Given the description of an element on the screen output the (x, y) to click on. 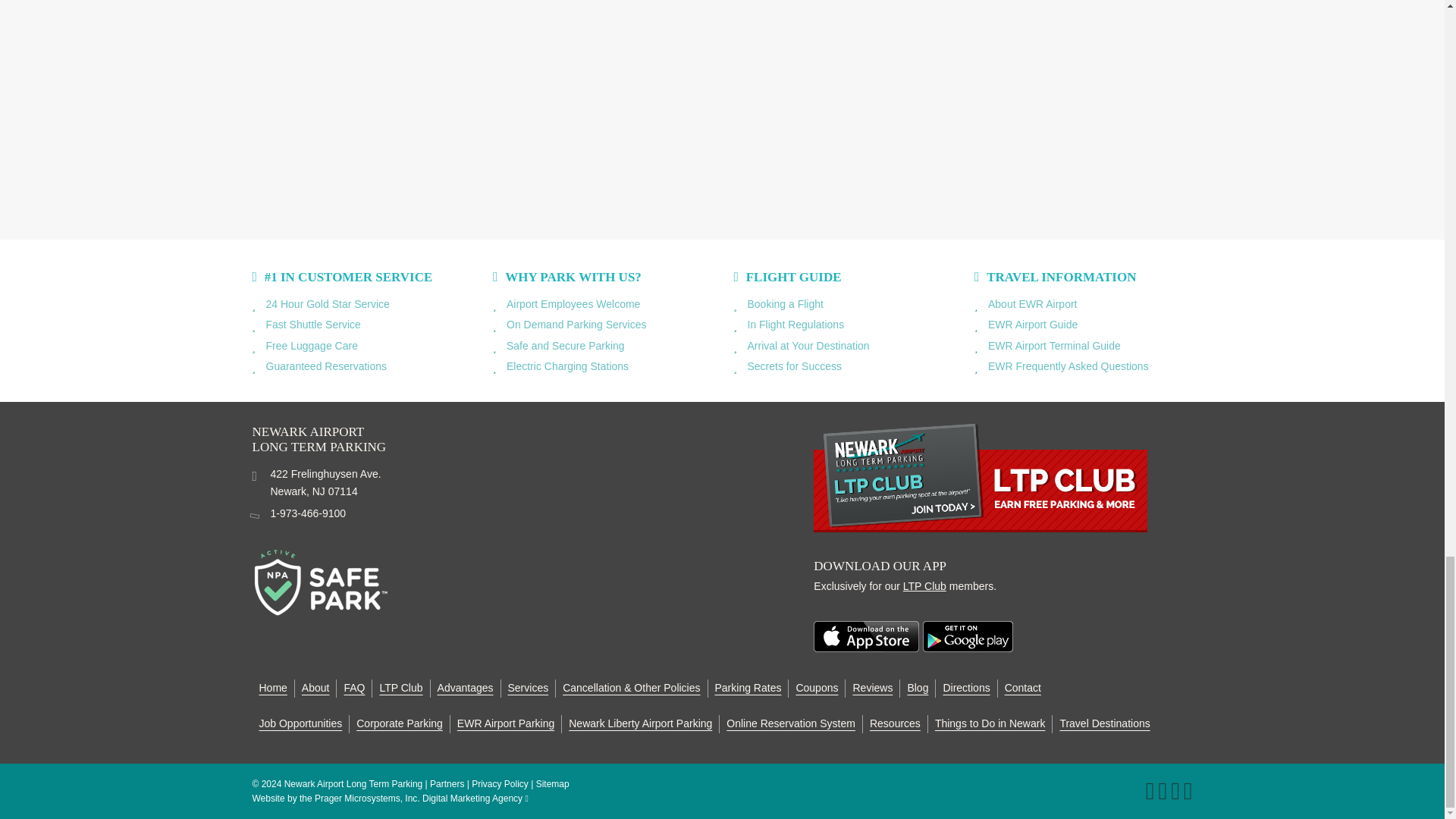
safepark-logo (319, 581)
ltp-club-bnr (980, 476)
